Given the description of an element on the screen output the (x, y) to click on. 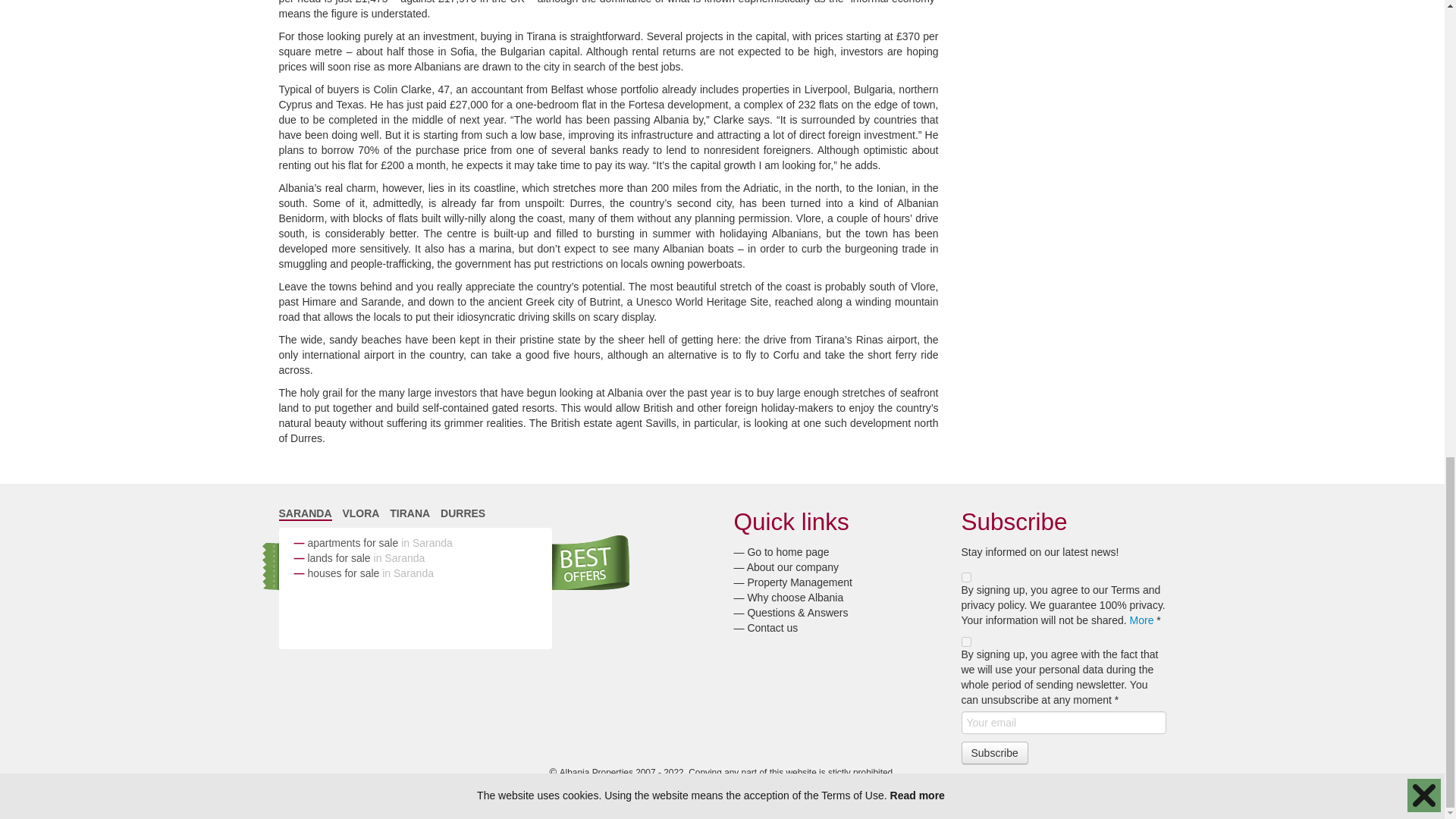
1 (965, 577)
Subscribe (993, 753)
1 (965, 642)
